Given the description of an element on the screen output the (x, y) to click on. 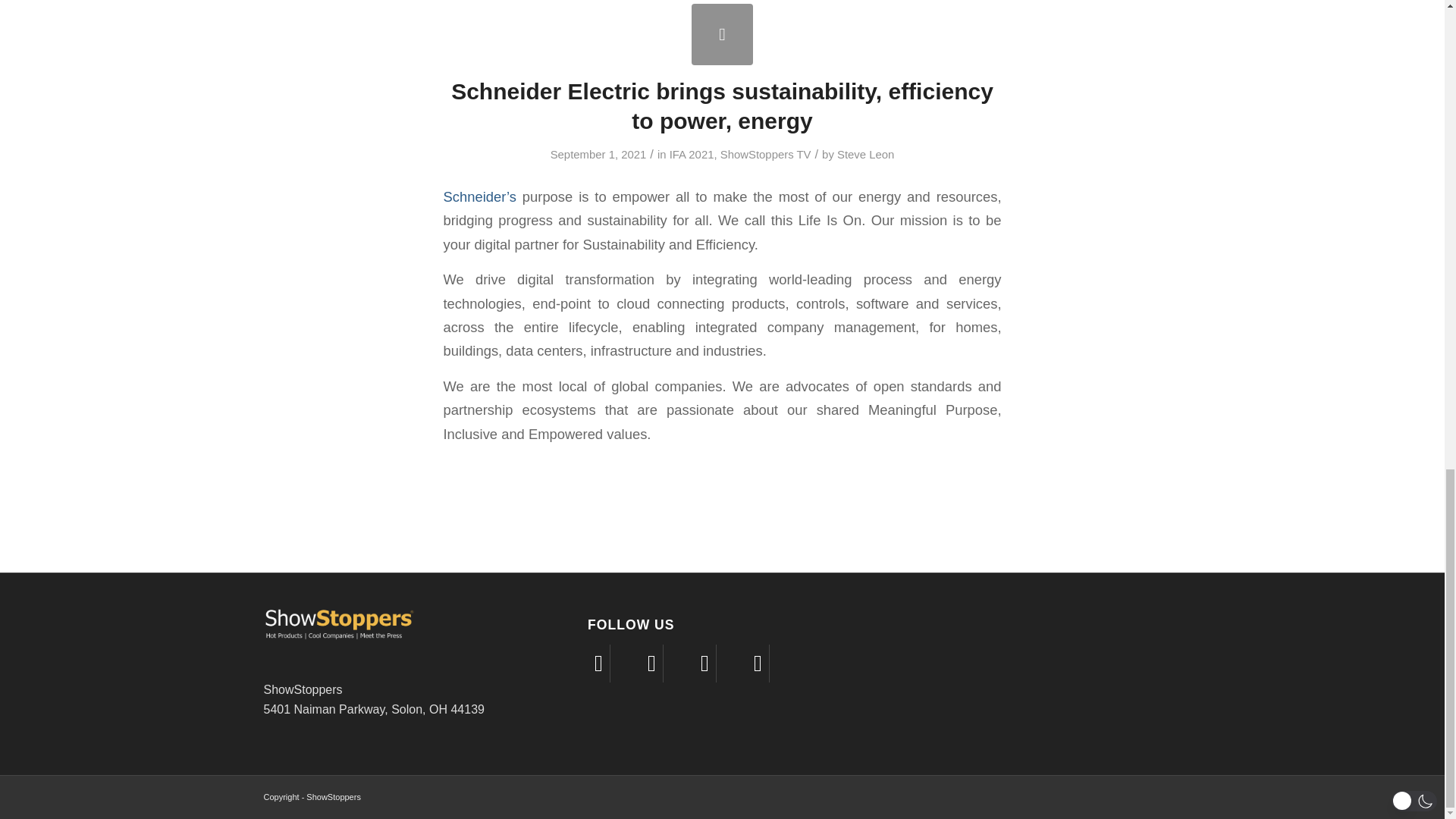
Steve Leon (865, 154)
IFA 2021 (691, 154)
ShowStoppers TV (765, 154)
Posts by Steve Leon (865, 154)
